Given the description of an element on the screen output the (x, y) to click on. 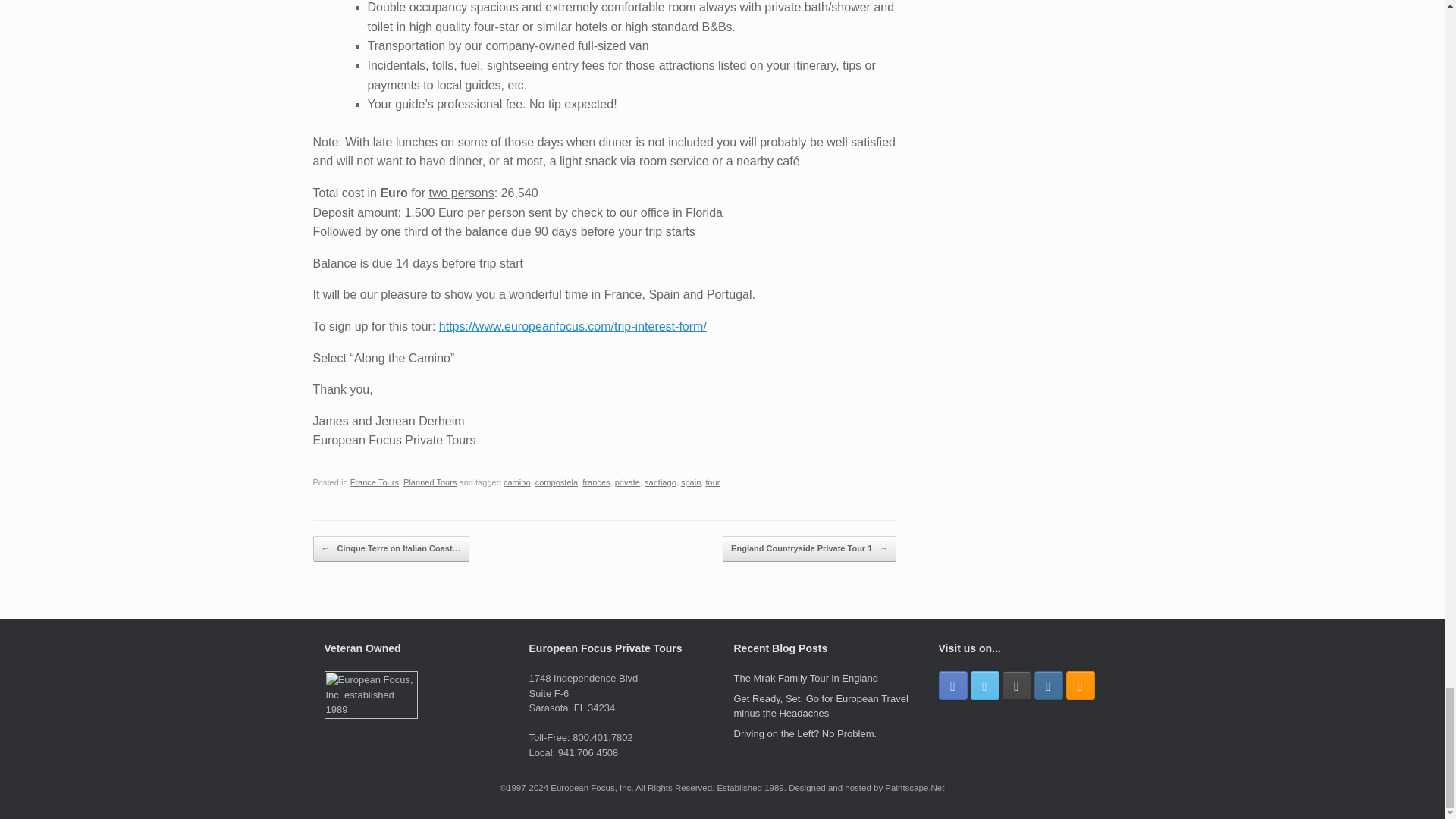
European Focus Facebook (953, 685)
European Focus, Inc. established 1989 (370, 716)
European Focus Flickr (1016, 685)
European Focus Twitter (984, 685)
European Focus RSS (1079, 685)
European Focus Instagram (1047, 685)
